Given the description of an element on the screen output the (x, y) to click on. 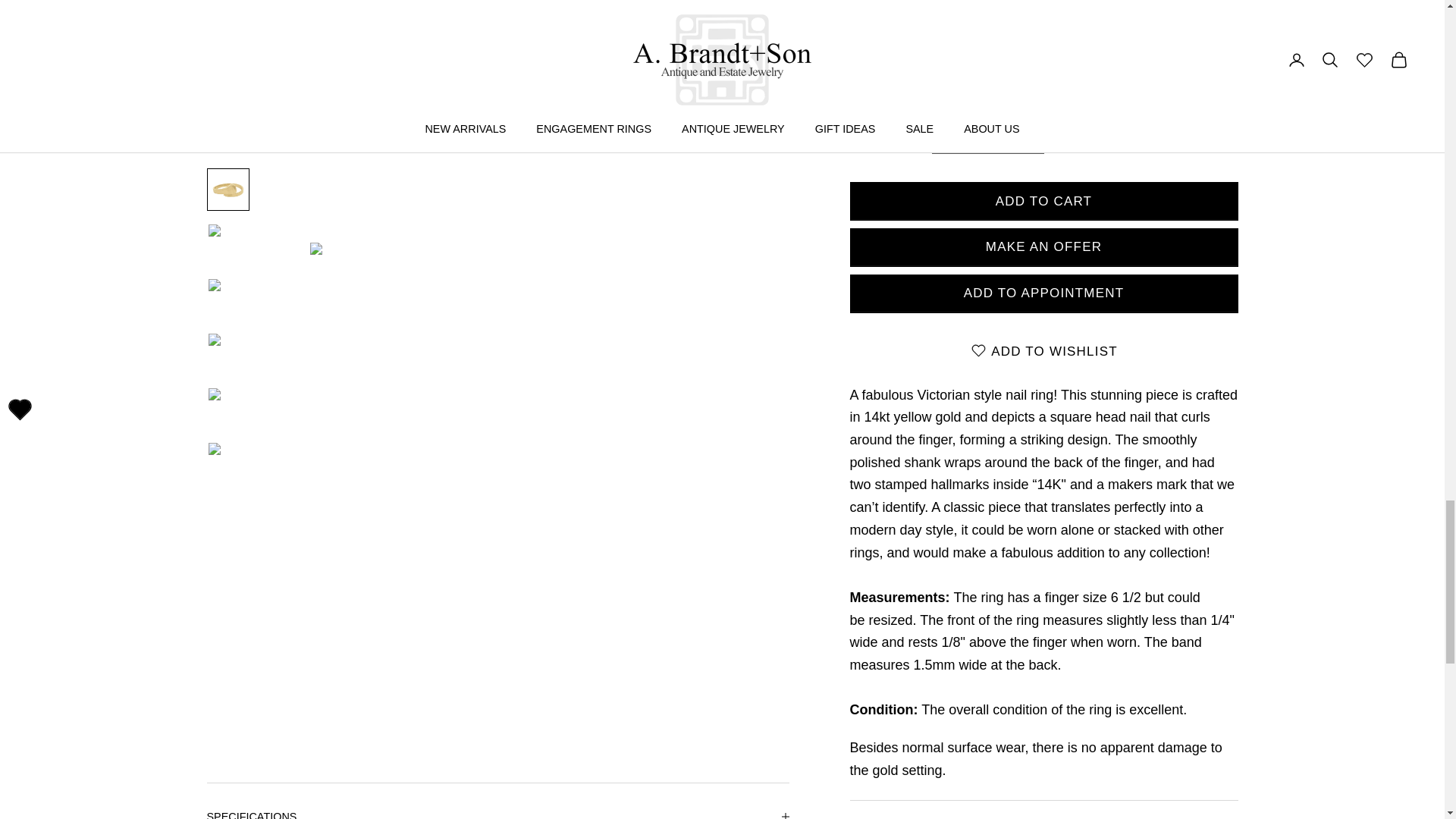
SPECIFICATIONS (497, 800)
